Given the description of an element on the screen output the (x, y) to click on. 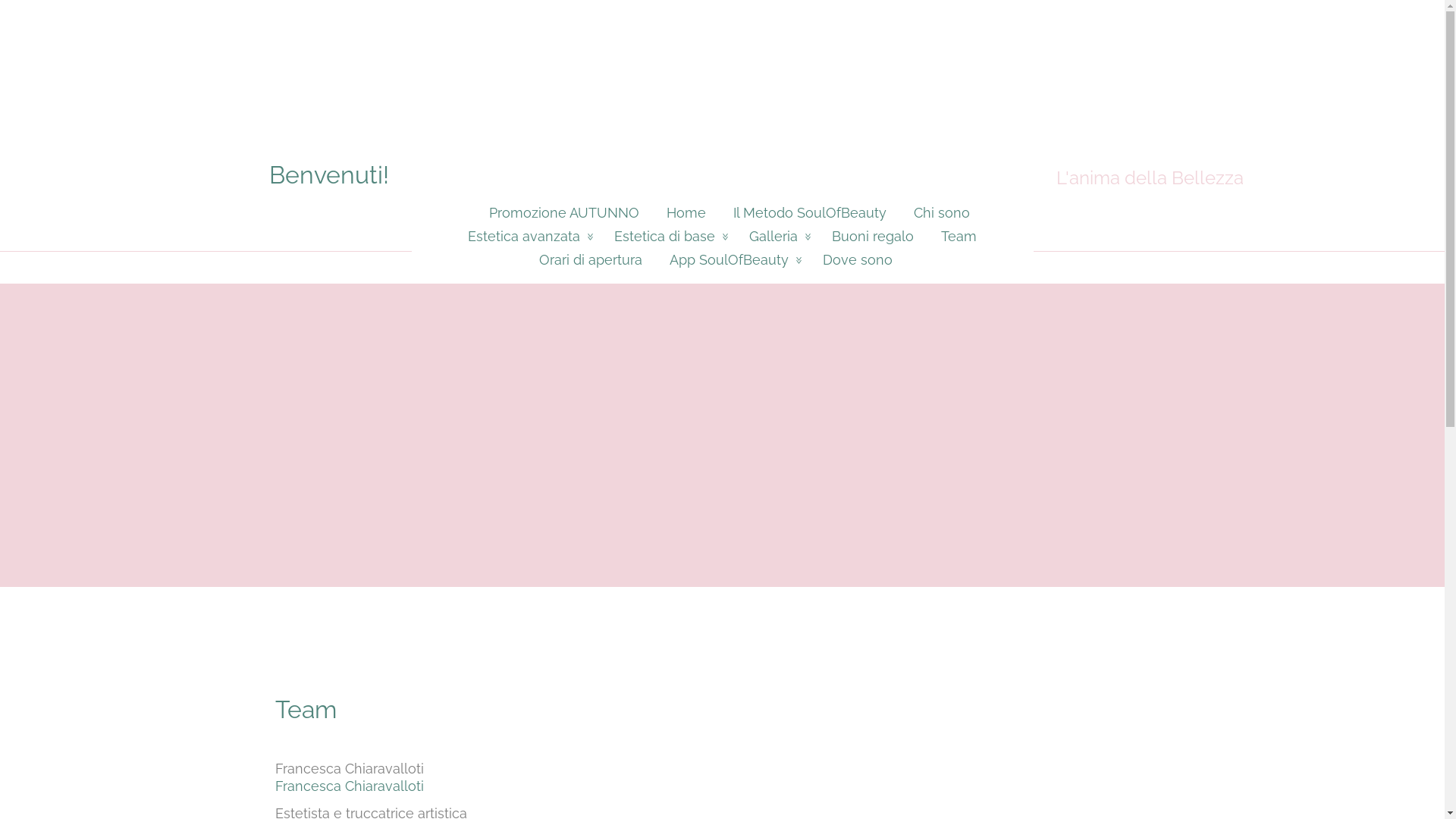
Orari di apertura Element type: text (589, 259)
Estetica avanzata Element type: text (527, 235)
Il Metodo SoulOfBeauty Element type: text (808, 212)
Estetica di base Element type: text (667, 235)
Team Element type: text (958, 235)
Home Element type: text (685, 212)
Dove sono Element type: text (863, 259)
Galleria Element type: text (776, 235)
Chi sono Element type: text (940, 212)
Buoni regalo Element type: text (872, 235)
App SoulOfBeauty Element type: text (731, 259)
Promozione AUTUNNO Element type: text (556, 212)
